Given the description of an element on the screen output the (x, y) to click on. 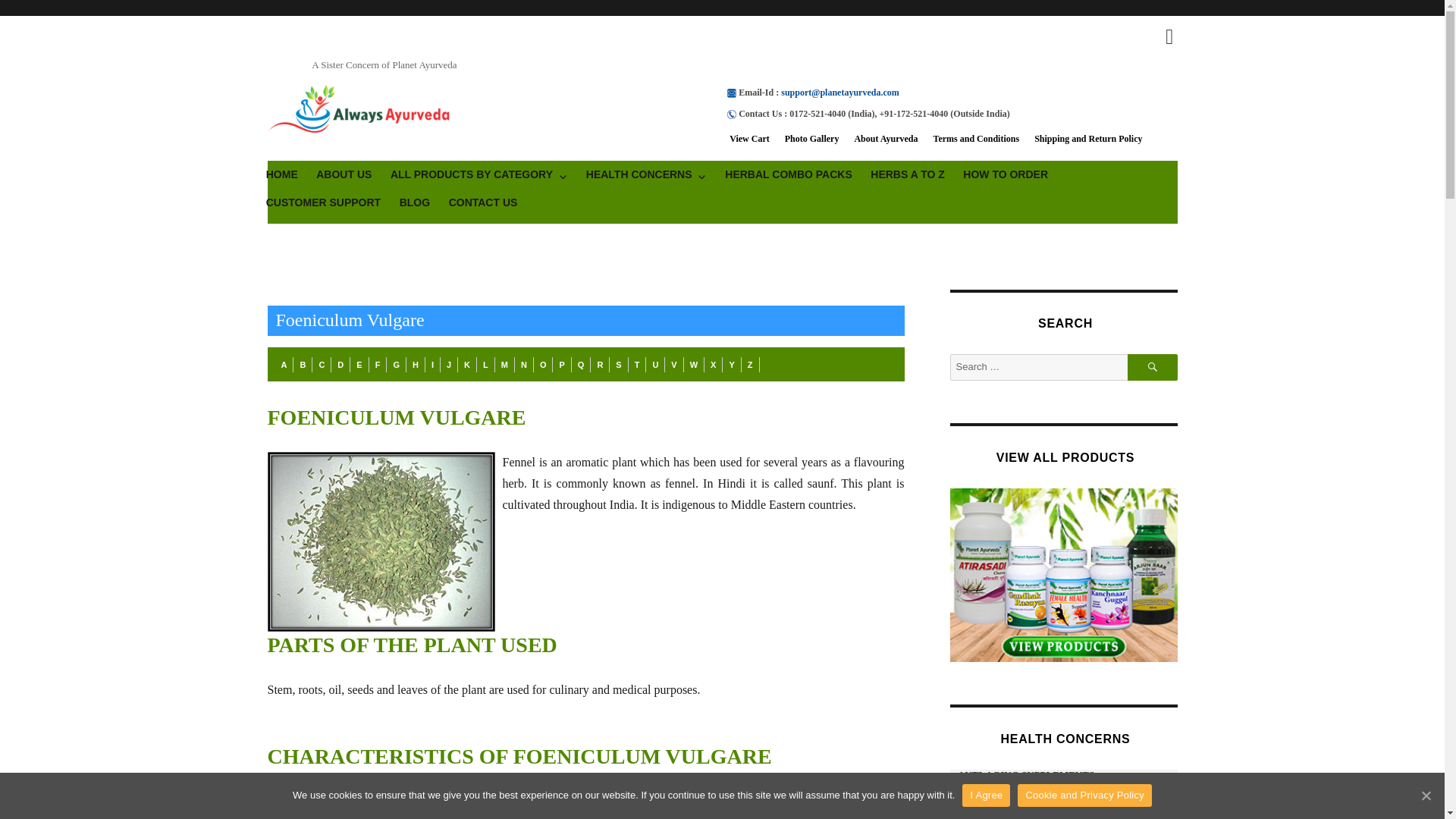
View your shopping cart (1169, 36)
Shipping and Return Policy (1087, 138)
About Ayurveda (885, 138)
ALL PRODUCTS BY CATEGORY (478, 174)
Terms and Conditions (976, 138)
ABOUT US (344, 174)
Photo Gallery (812, 138)
View Cart (749, 138)
HOME (281, 174)
Foeniculum Vulgare (384, 541)
HEALTH CONCERNS (646, 174)
